Given the description of an element on the screen output the (x, y) to click on. 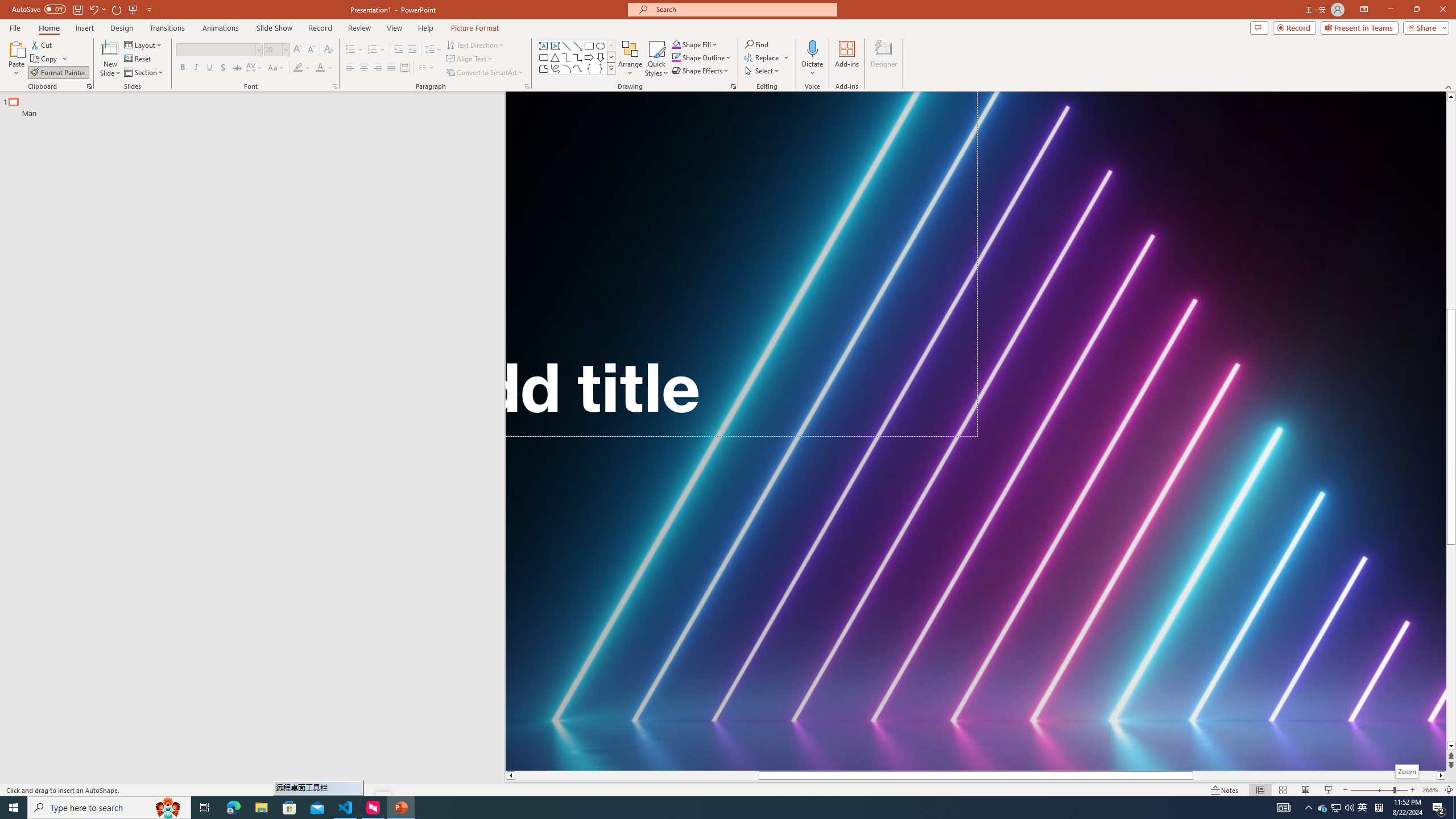
Zoom 268% (1430, 790)
